Given the description of an element on the screen output the (x, y) to click on. 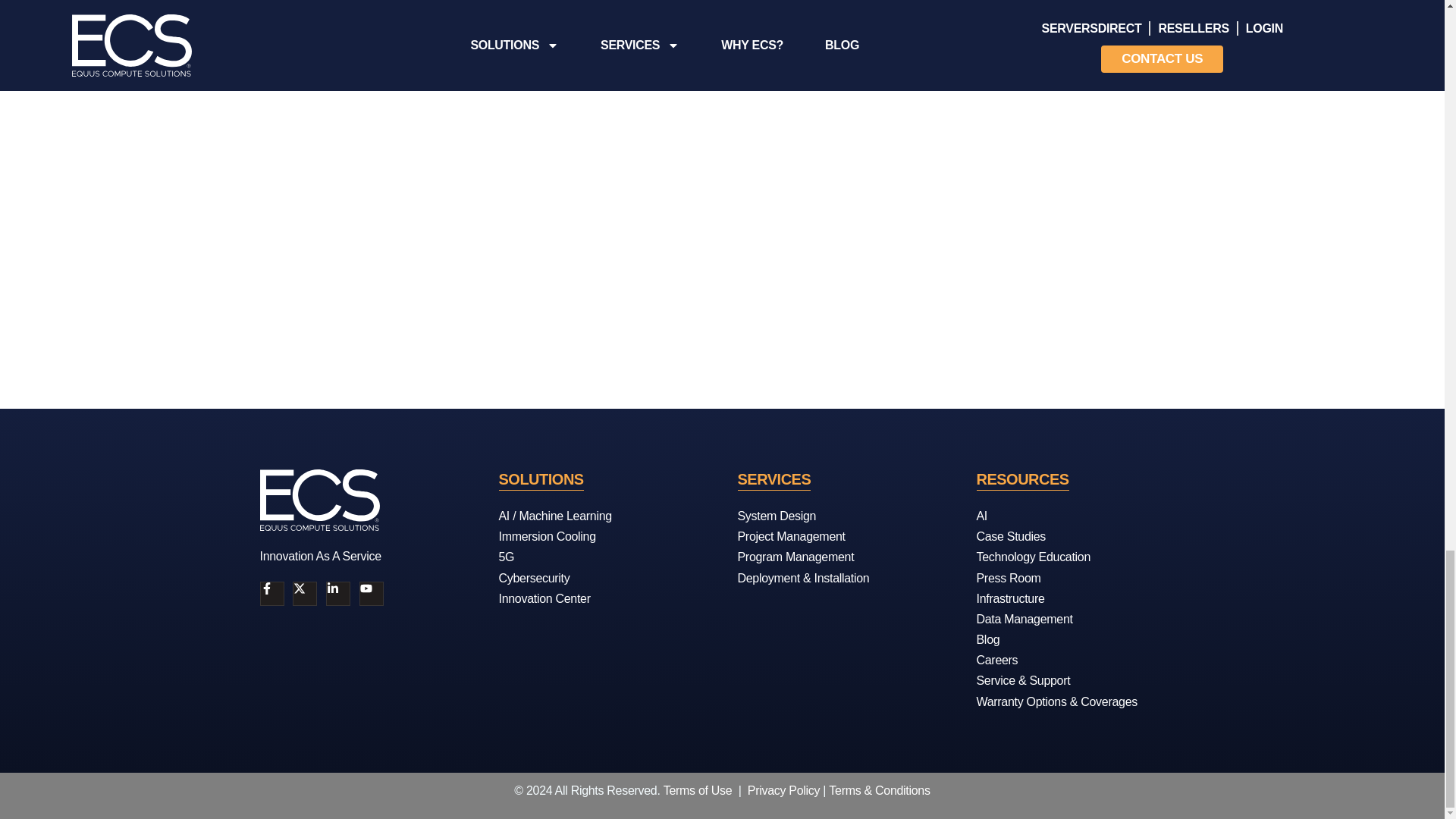
ecs-white (318, 499)
